Given the description of an element on the screen output the (x, y) to click on. 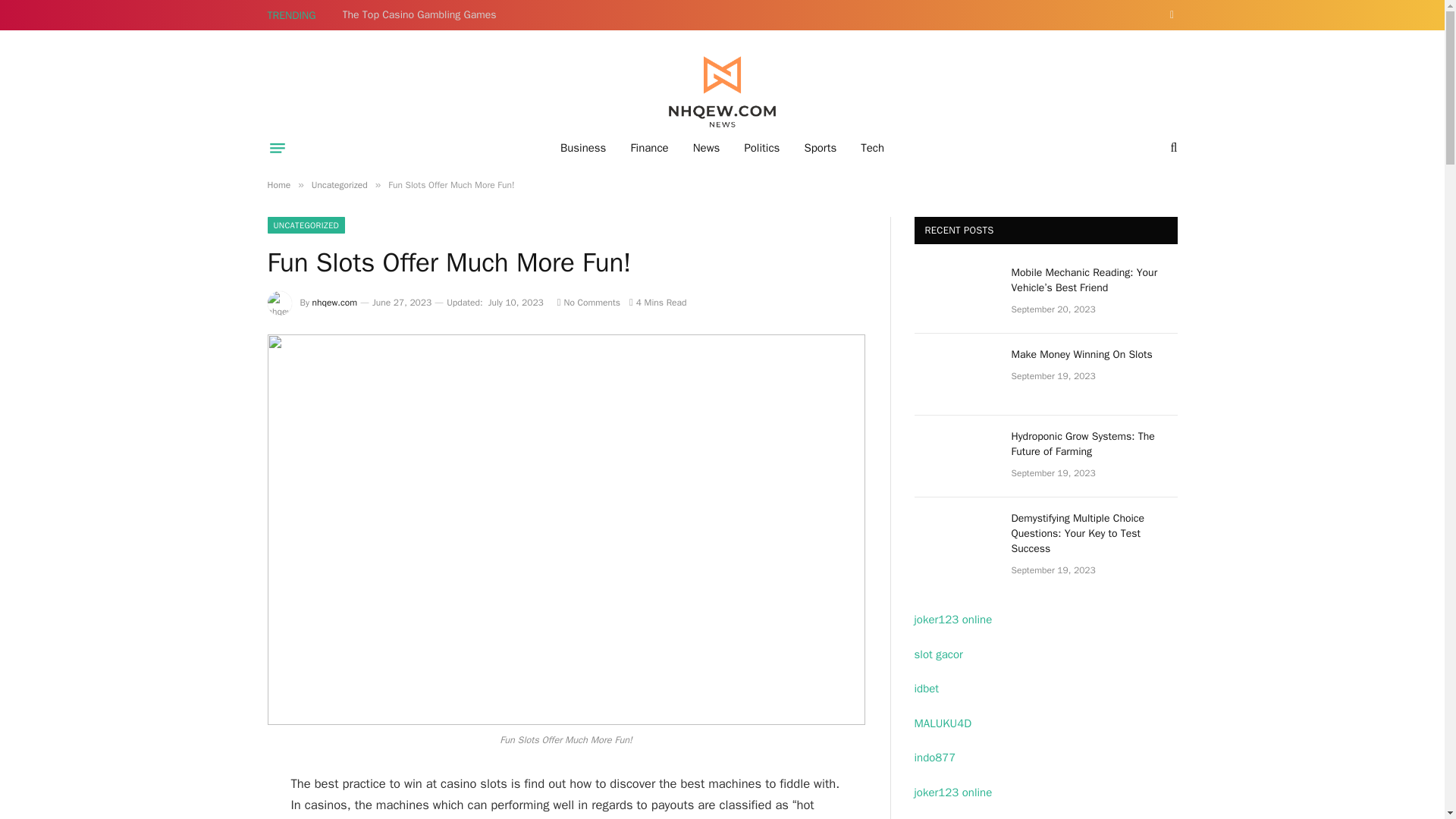
Nhqew (721, 92)
No Comments (588, 302)
Politics (762, 147)
News (706, 147)
Uncategorized (339, 184)
Home (277, 184)
Business (583, 147)
UNCATEGORIZED (305, 225)
Tech (872, 147)
Sports (820, 147)
Switch to Dark Design - easier on eyes. (1169, 14)
Finance (648, 147)
nhqew.com (334, 302)
Posts by nhqew.com (334, 302)
